Given the description of an element on the screen output the (x, y) to click on. 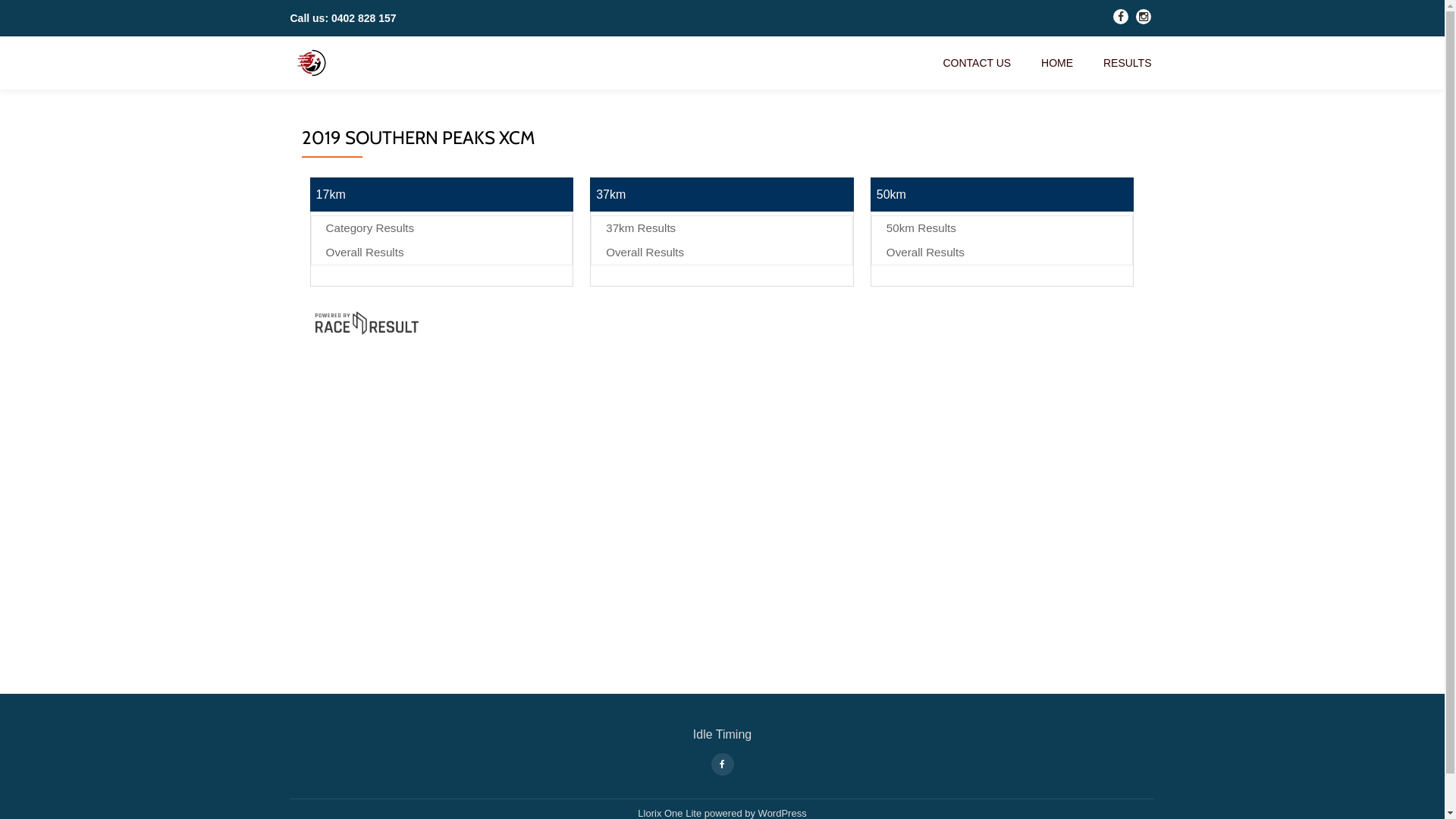
HOME Element type: text (1057, 62)
- Element type: text (1120, 19)
Idle Timing Element type: hover (313, 62)
- Element type: text (1143, 19)
RESULTS Element type: text (1127, 62)
- Element type: text (721, 762)
CONTACT US Element type: text (976, 62)
